Given the description of an element on the screen output the (x, y) to click on. 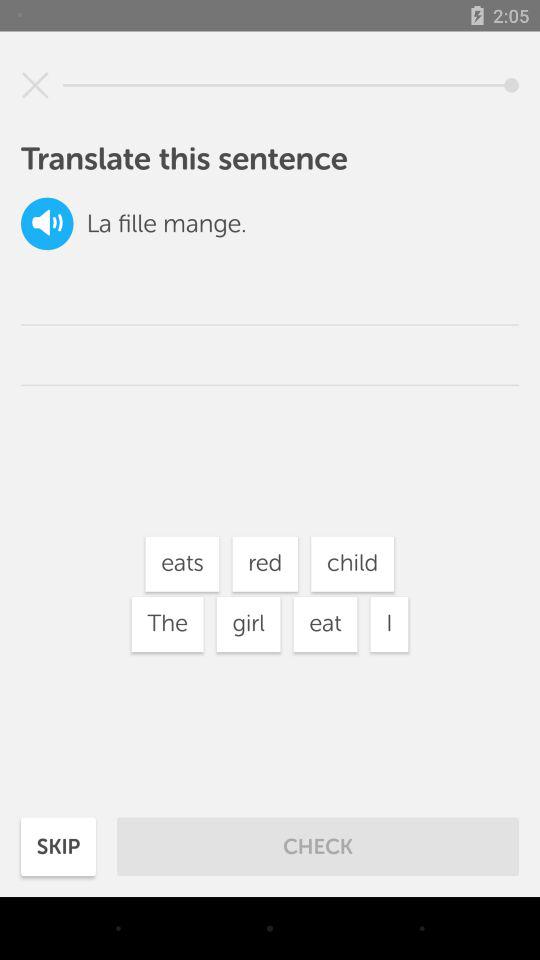
open the icon to the left of la (47, 223)
